Given the description of an element on the screen output the (x, y) to click on. 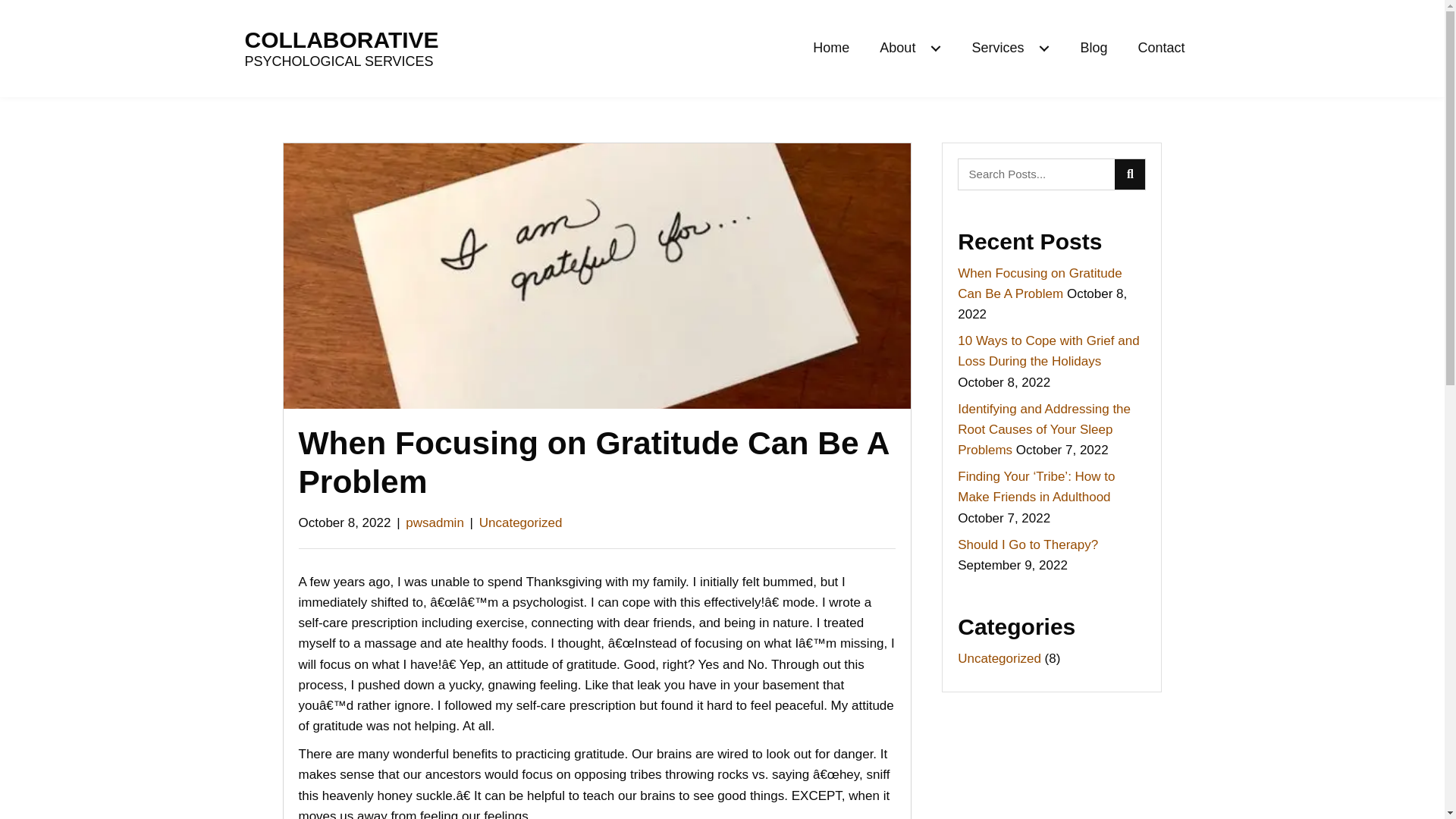
When Focusing on Gratitude Can Be A Problem (1039, 283)
Search (1036, 173)
Blog (1093, 47)
Services (1010, 47)
Home (830, 47)
10 Ways to Cope with Grief and Loss During the Holidays (1048, 350)
Uncategorized (520, 522)
pwsadmin (435, 522)
Contact (1160, 47)
